Given the description of an element on the screen output the (x, y) to click on. 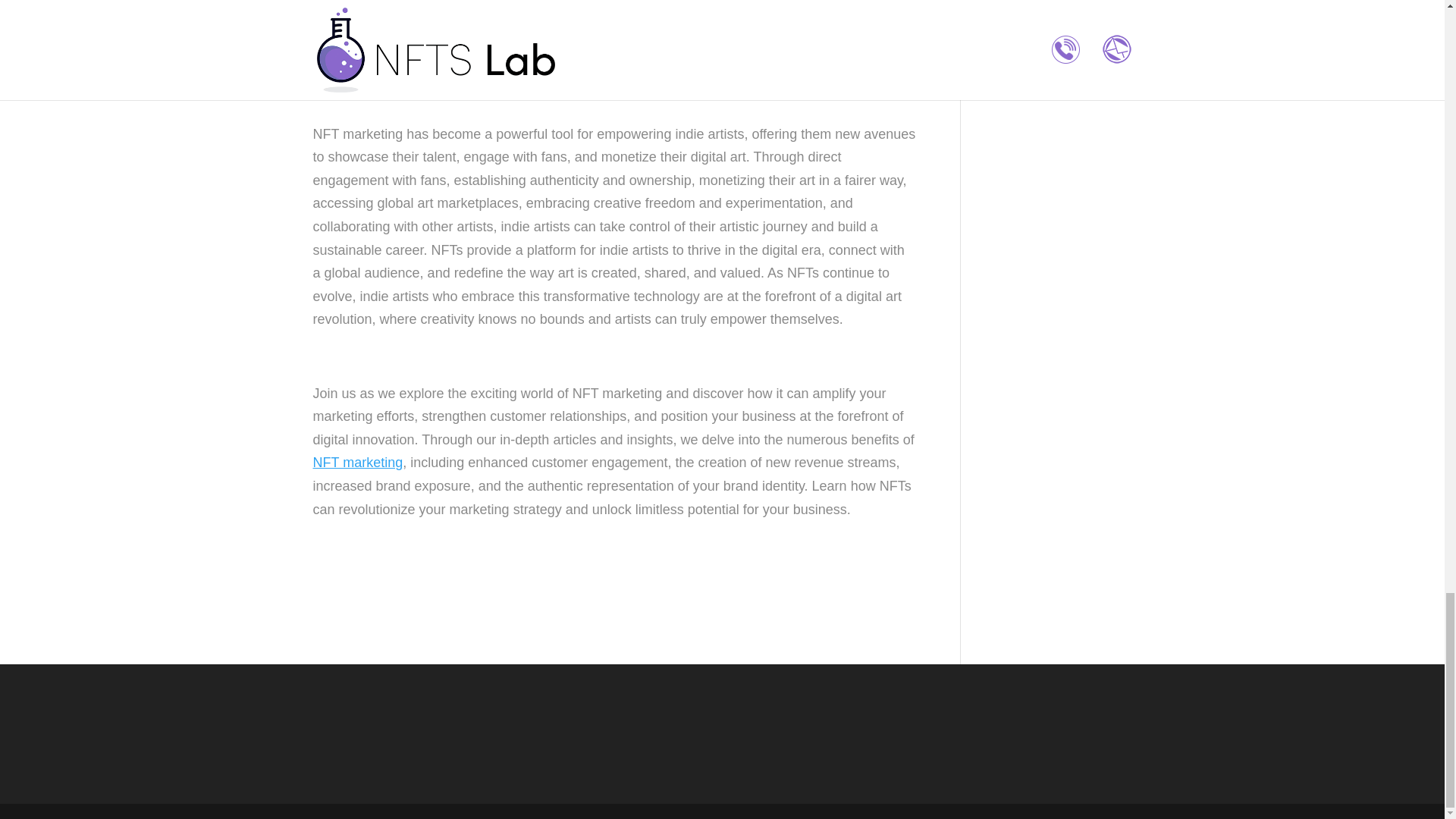
NFT marketing (358, 462)
